Given the description of an element on the screen output the (x, y) to click on. 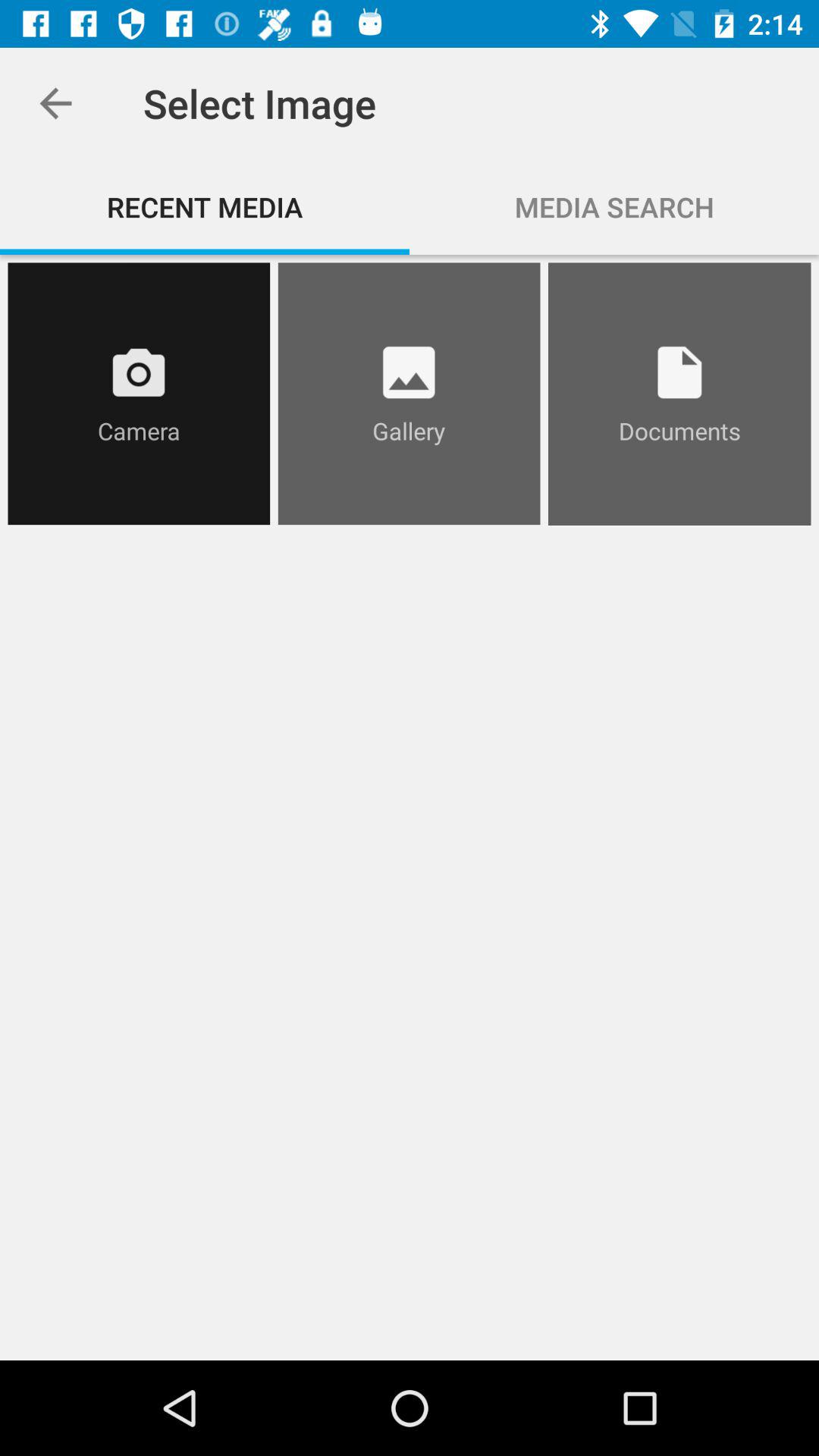
click item to the left of the media search (204, 206)
